Given the description of an element on the screen output the (x, y) to click on. 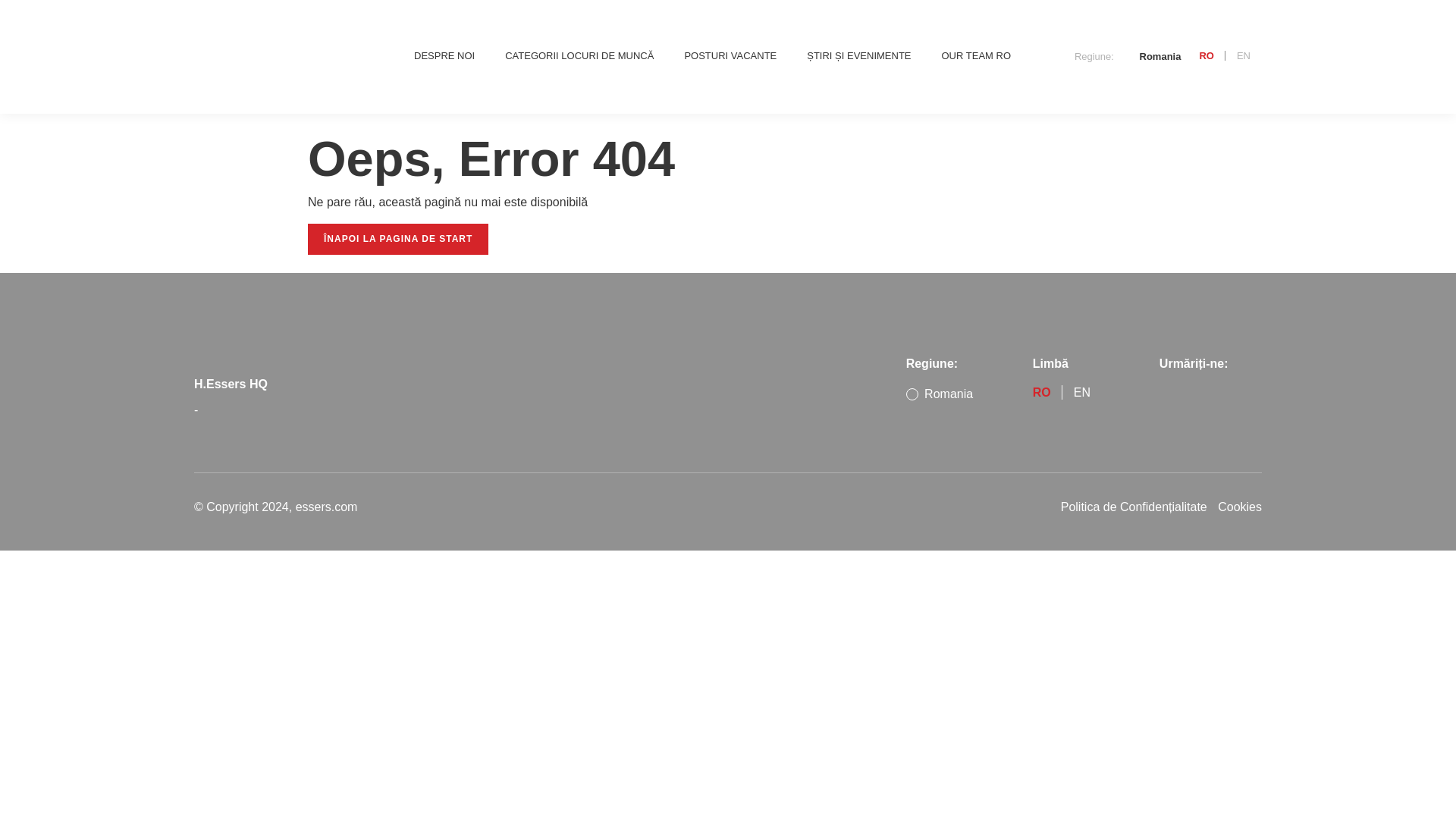
EN (1082, 393)
Cookies (1235, 506)
Home (221, 339)
POSTURI VACANTE (730, 56)
RO (1041, 393)
DESPRE NOI (443, 56)
Romania (938, 393)
Home (246, 56)
Romania (1150, 56)
RO (1206, 57)
EN (1243, 57)
OUR TEAM RO (976, 56)
